Given the description of an element on the screen output the (x, y) to click on. 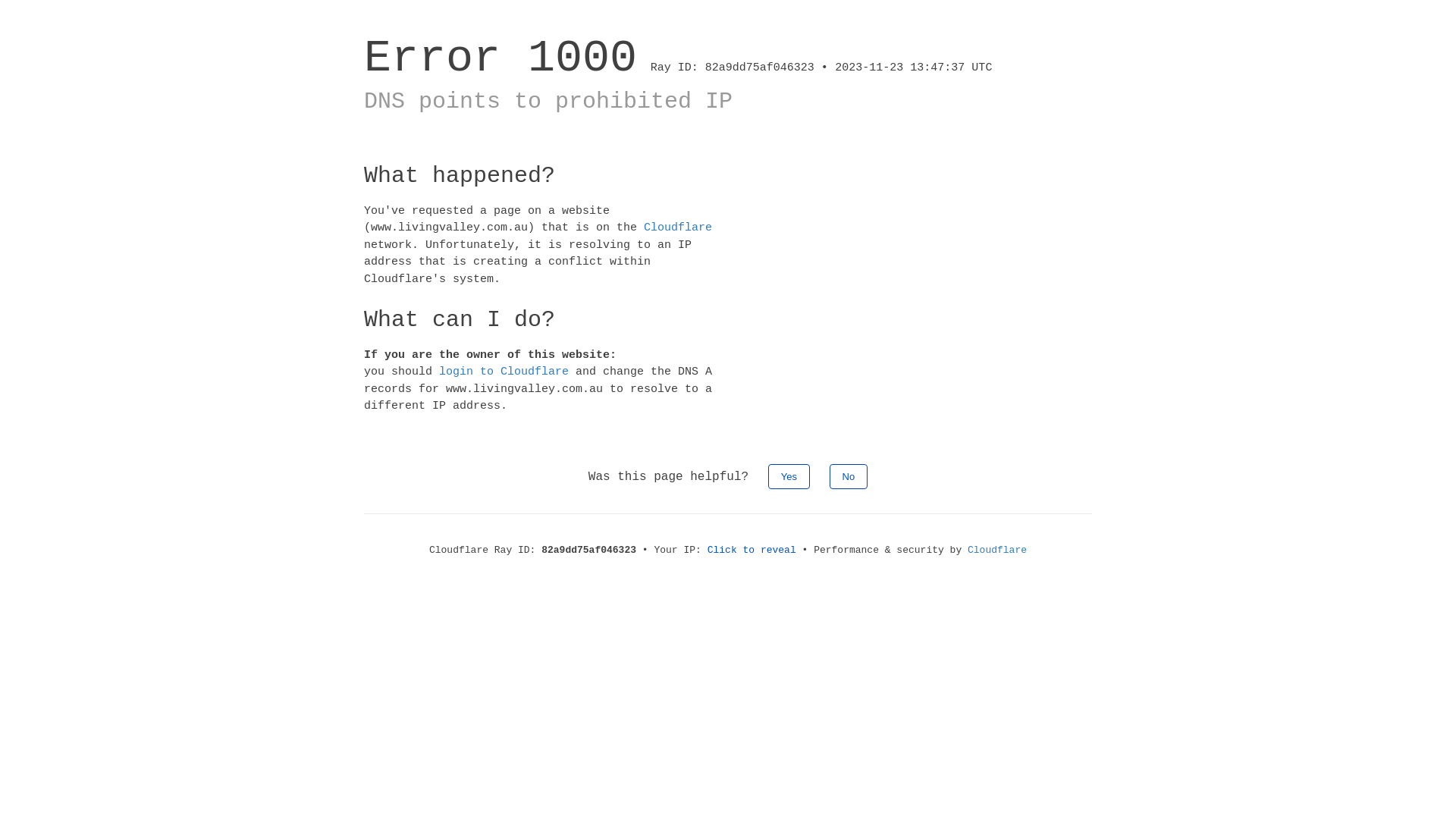
No Element type: text (848, 476)
Click to reveal Element type: text (751, 549)
Cloudflare Element type: text (677, 227)
Yes Element type: text (788, 476)
login to Cloudflare Element type: text (503, 371)
Cloudflare Element type: text (996, 549)
